Given the description of an element on the screen output the (x, y) to click on. 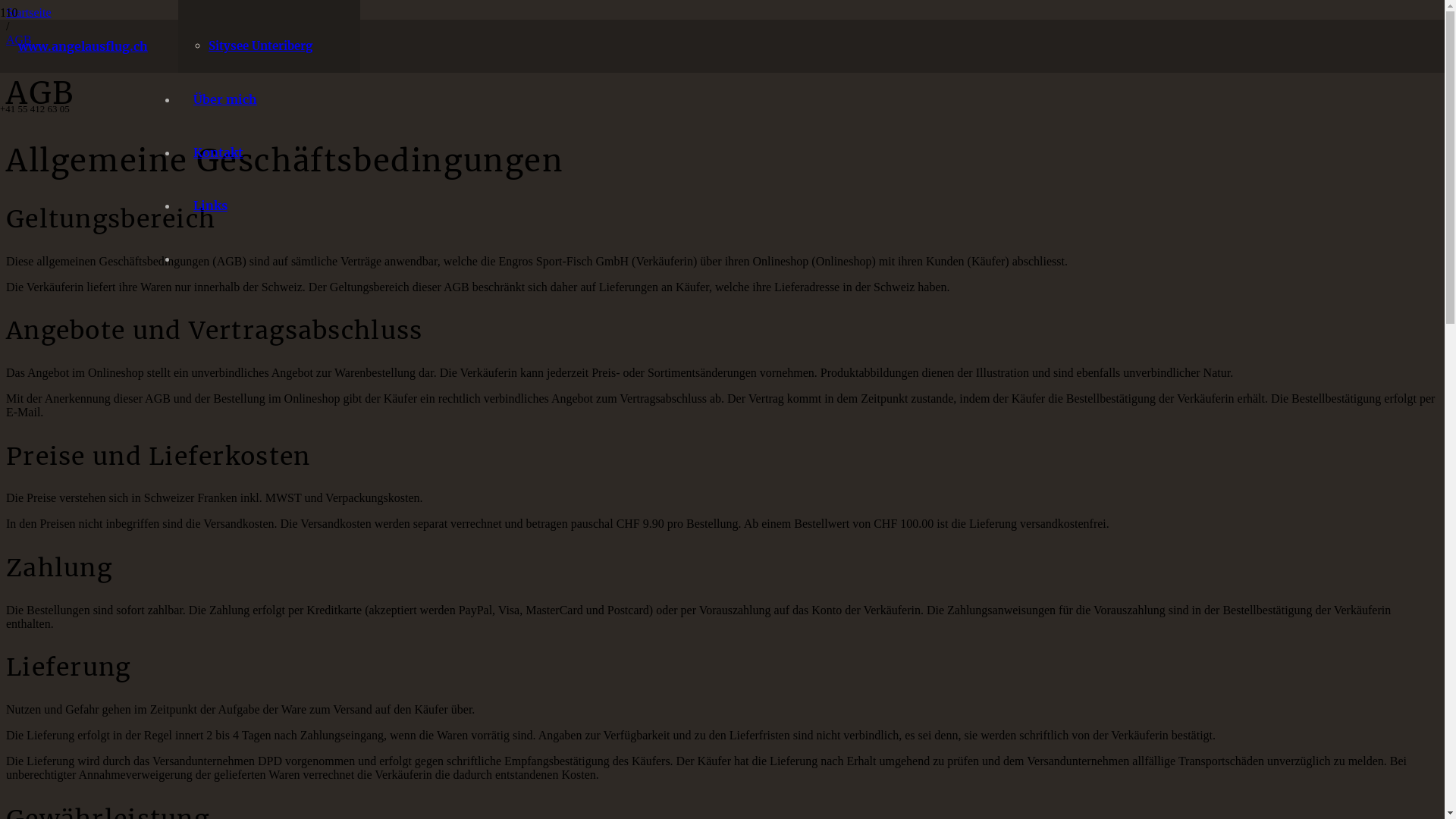
www.angelausflug.ch Element type: text (82, 45)
Startseite Element type: text (28, 12)
Kontakt Element type: text (218, 152)
AGB Element type: text (18, 39)
Links Element type: text (210, 205)
Sitysee Unteriberg Element type: text (260, 45)
